Given the description of an element on the screen output the (x, y) to click on. 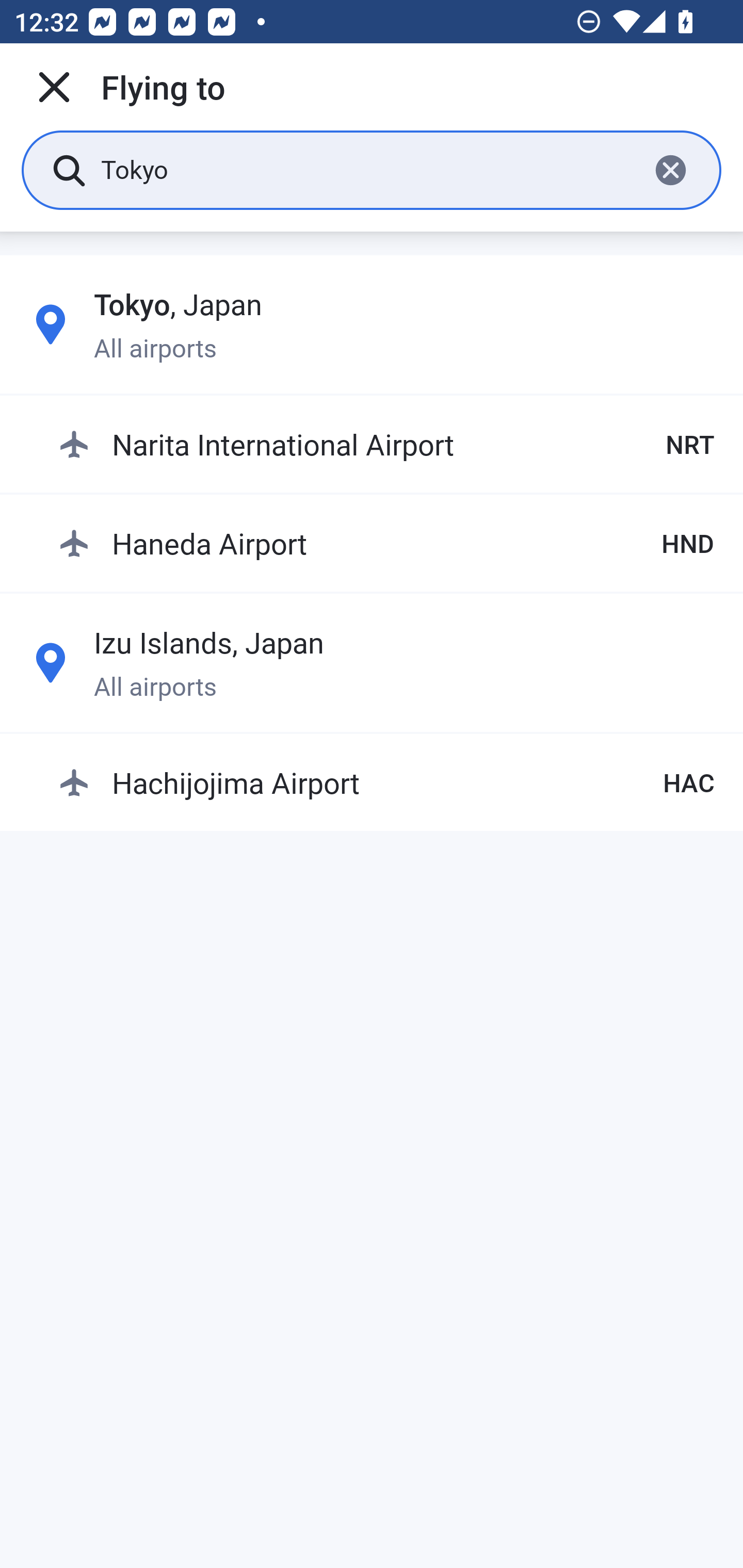
Tokyo (367, 169)
Tokyo, Japan All airports (371, 324)
Narita International Airport NRT (385, 444)
Haneda Airport HND (385, 543)
Izu Islands, Japan All airports (371, 662)
Hachijojima Airport HAC (385, 782)
